Given the description of an element on the screen output the (x, y) to click on. 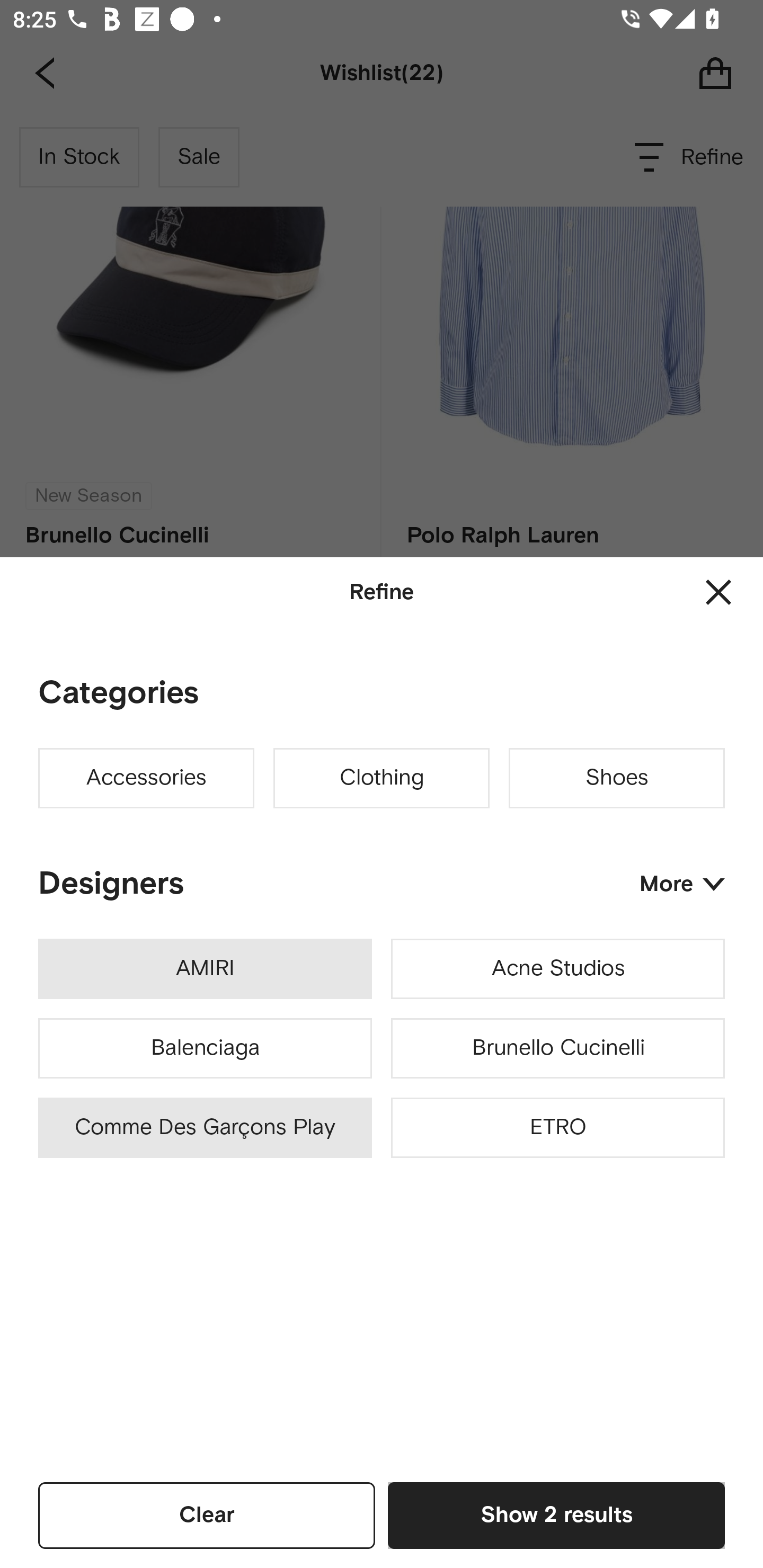
Accessories (146, 778)
Clothing (381, 778)
Shoes (616, 778)
More (681, 884)
AMIRI (205, 968)
Acne Studios (557, 968)
Balenciaga (205, 1047)
Brunello Cucinelli (557, 1047)
Comme Des Garçons Play (205, 1127)
ETRO (557, 1127)
Clear (206, 1515)
Show 2 results (555, 1515)
